Given the description of an element on the screen output the (x, y) to click on. 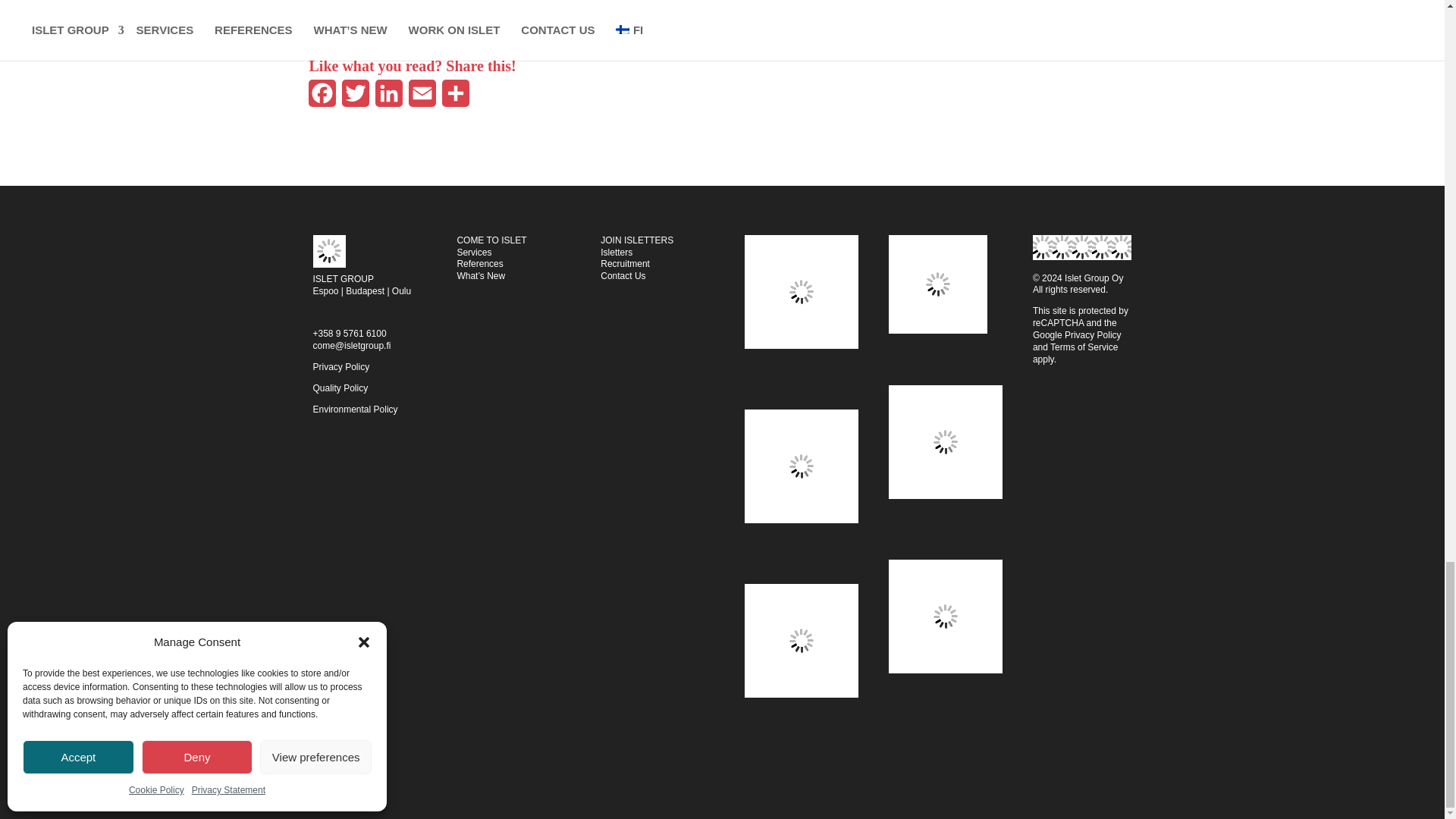
LinkedIn (387, 98)
Email (421, 98)
Facebook (320, 98)
Twitter (354, 98)
Twitter (354, 98)
Facebook (320, 98)
